Given the description of an element on the screen output the (x, y) to click on. 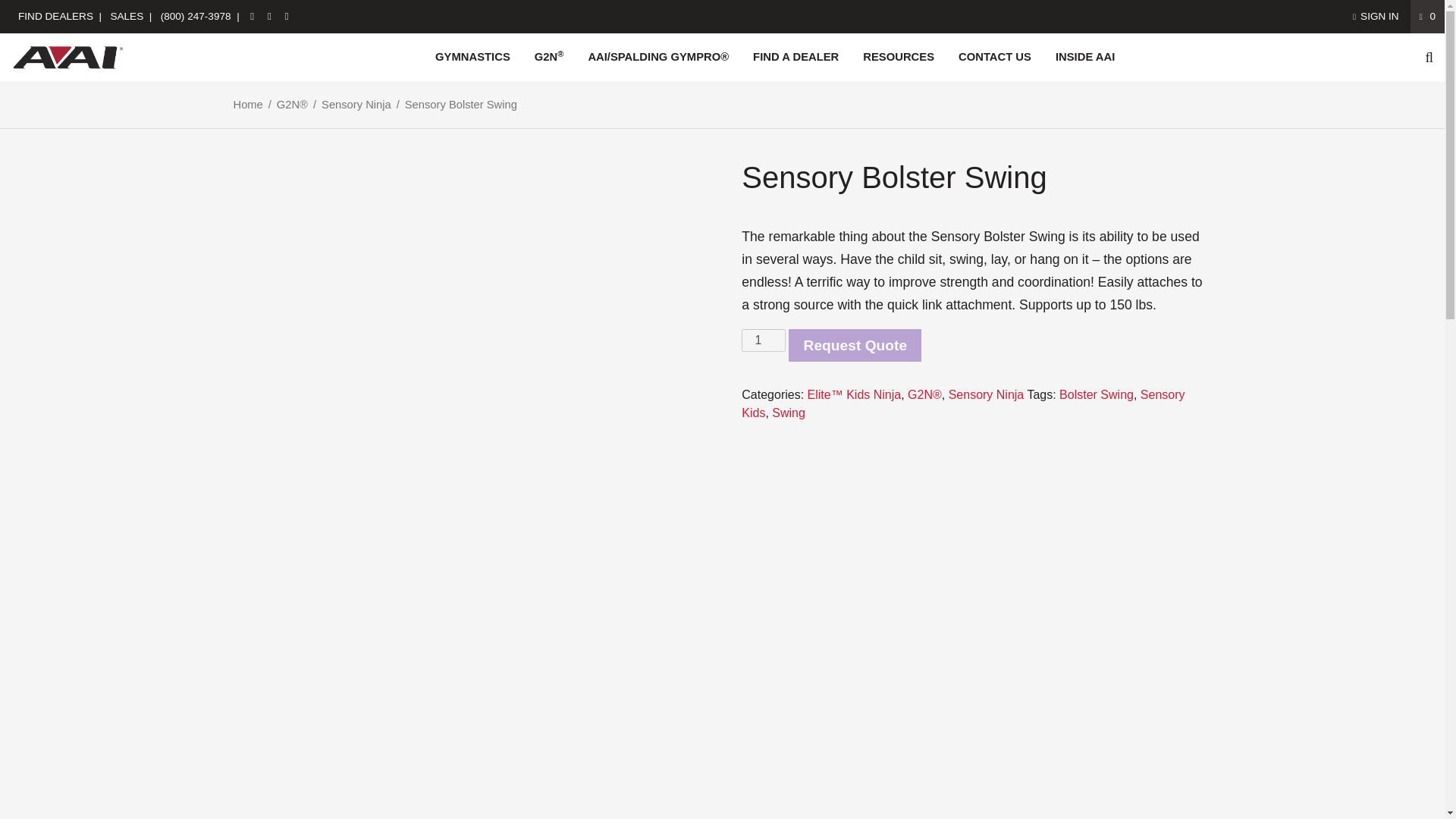
1 (763, 340)
FIND DEALERS (55, 16)
GYMNASTICS (472, 57)
SALES (126, 16)
SIGN IN (1375, 16)
